Given the description of an element on the screen output the (x, y) to click on. 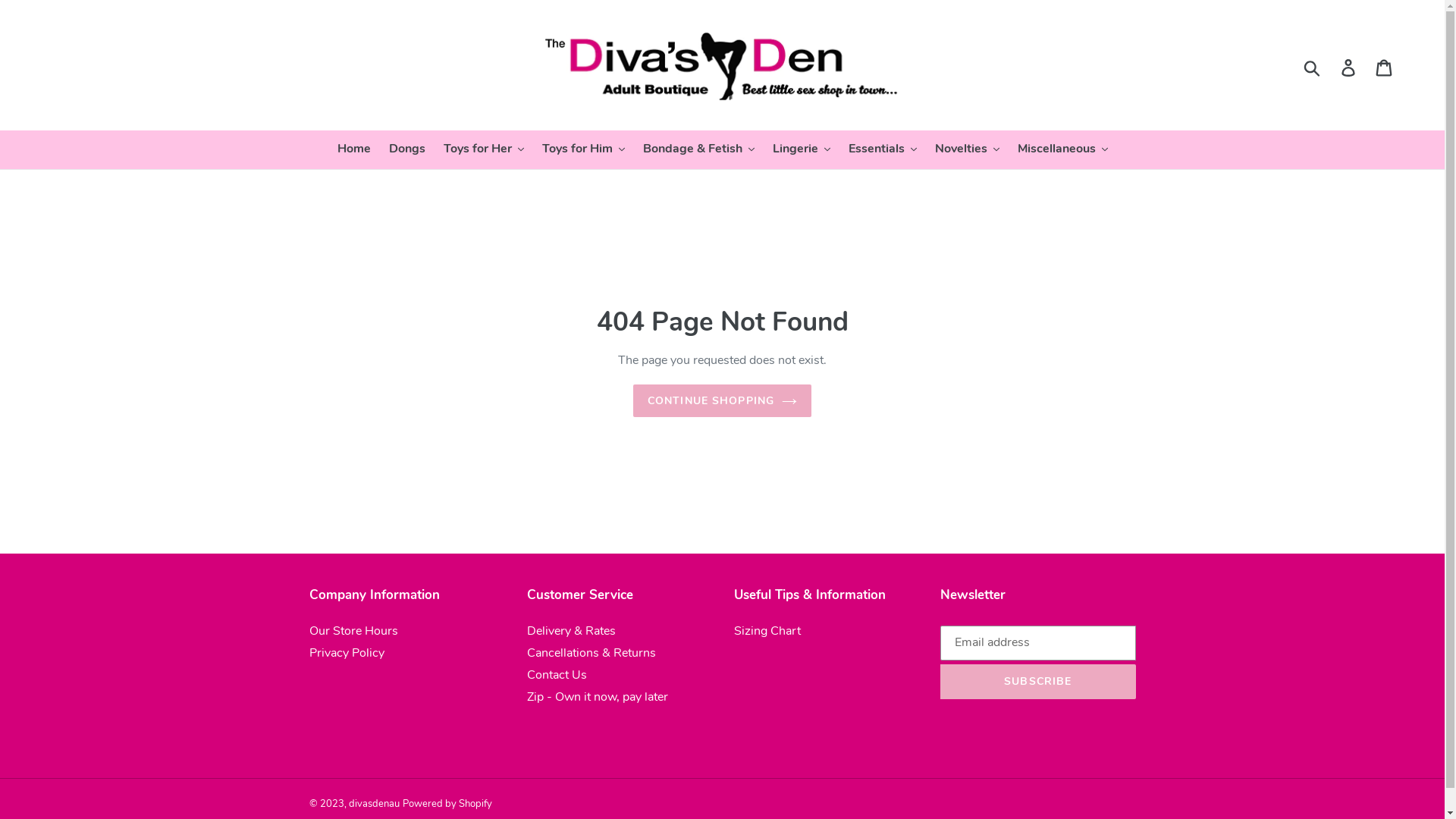
Cancellations & Returns Element type: text (591, 653)
divasdenau Element type: text (373, 804)
Submit Element type: text (1312, 67)
SUBSCRIBE Element type: text (1037, 682)
Dongs Element type: text (406, 149)
Powered by Shopify Element type: text (446, 804)
Zip - Own it now, pay later Element type: text (597, 697)
Log in Element type: text (1349, 67)
Home Element type: text (353, 149)
Contact Us Element type: text (556, 675)
Cart Element type: text (1384, 67)
CONTINUE SHOPPING Element type: text (722, 400)
Sizing Chart Element type: text (767, 631)
Our Store Hours Element type: text (353, 631)
Delivery & Rates Element type: text (571, 631)
Privacy Policy Element type: text (346, 653)
